Given the description of an element on the screen output the (x, y) to click on. 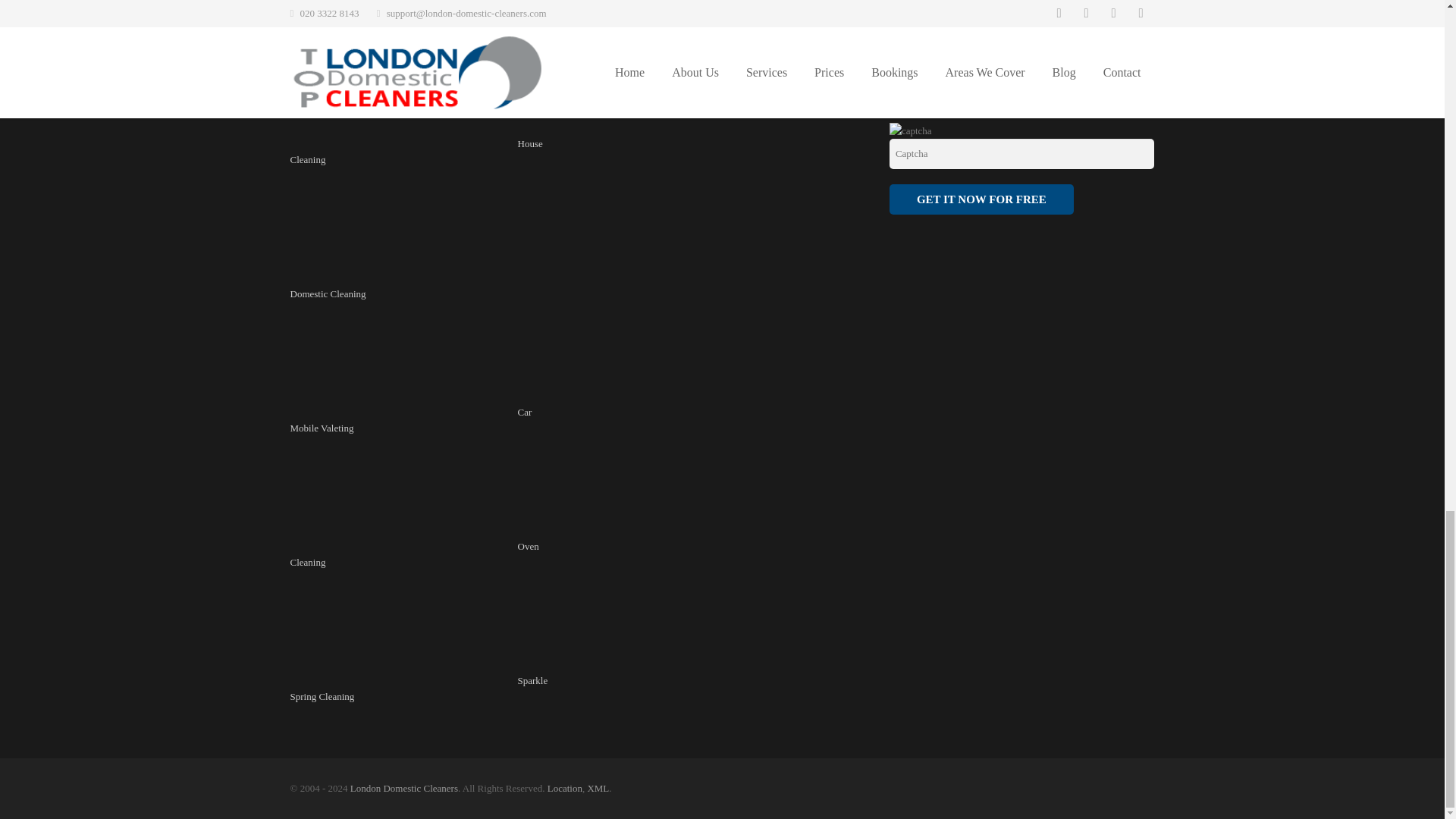
1 (894, 85)
Location (564, 787)
XML (597, 787)
Domestic Cleaning (402, 285)
Car Mobile Valeting (410, 420)
House Cleaning (415, 151)
Sparkle Spring Cleaning (418, 687)
020 3322 8143 (636, 4)
Oven Cleaning (413, 554)
Get It Now For Free (981, 199)
London Domestic Cleaners (404, 787)
Get It Now For Free (981, 199)
Home Cleaning (415, 17)
